Given the description of an element on the screen output the (x, y) to click on. 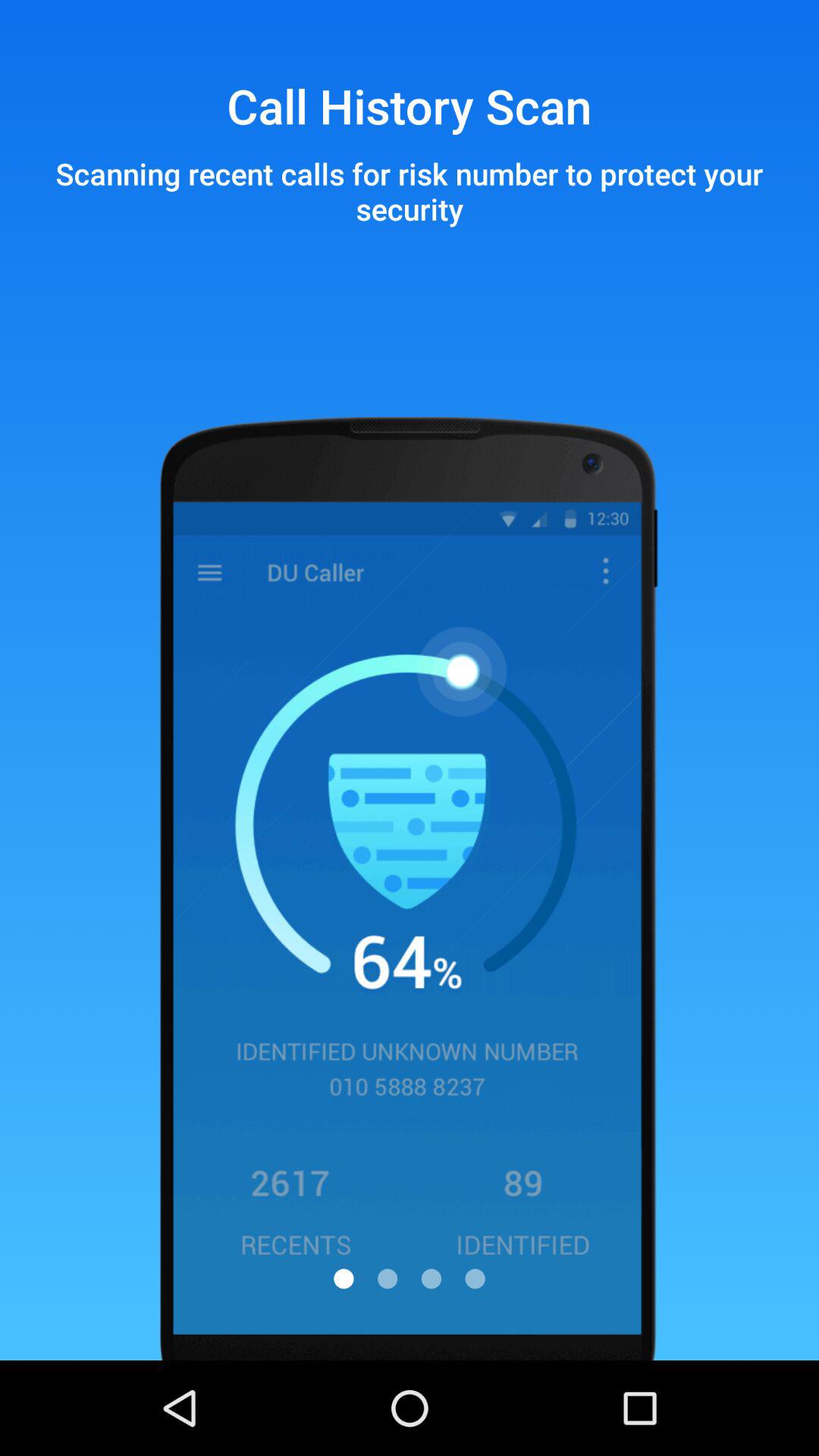
select the icon below the scanning recent calls item (387, 1278)
